Given the description of an element on the screen output the (x, y) to click on. 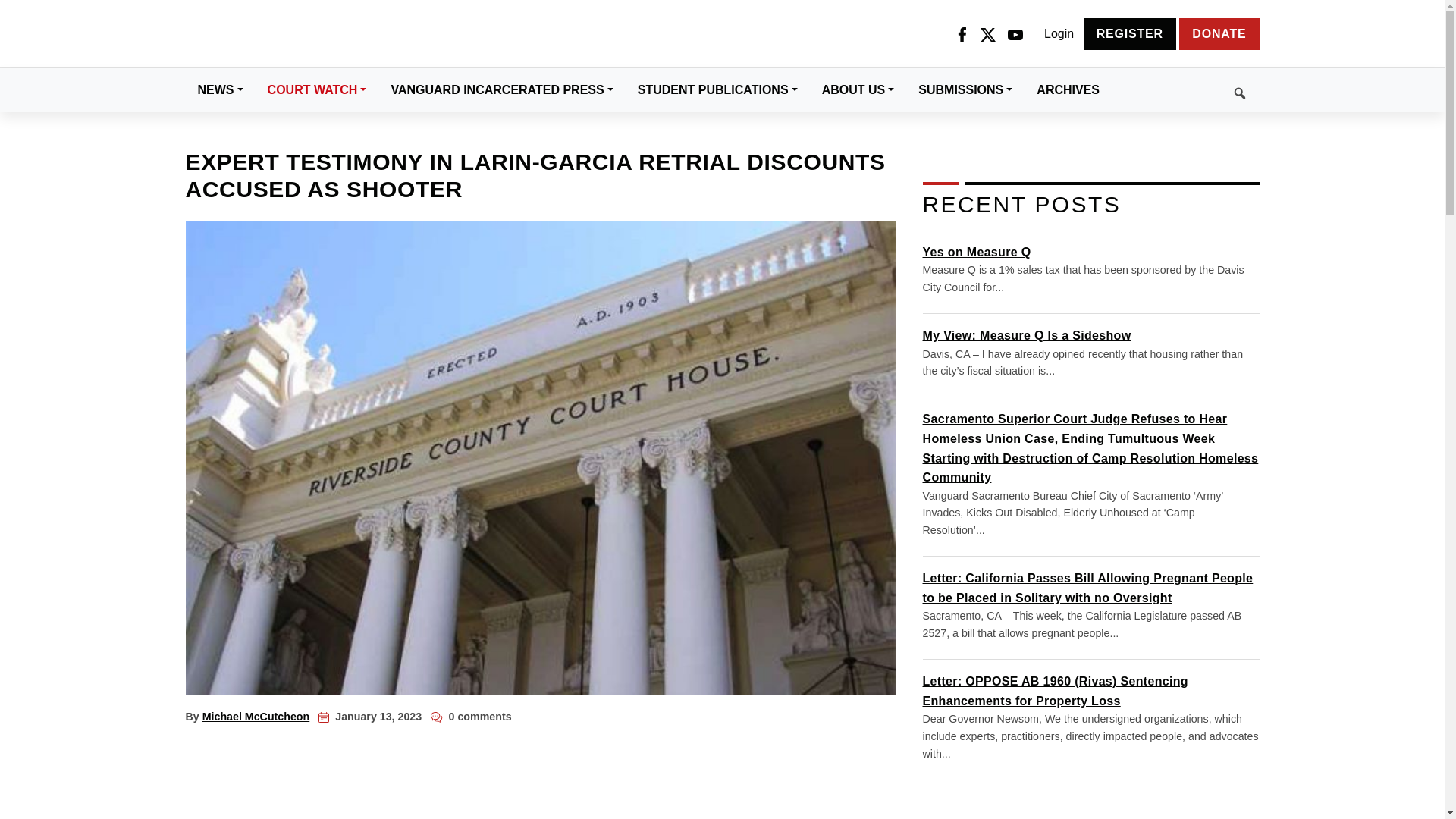
REGISTER (1129, 33)
YouTube (1015, 34)
Twitter (987, 34)
Facebook (962, 34)
NEWS (219, 89)
Search (1185, 90)
DONATE (1219, 33)
Login (1058, 34)
